Given the description of an element on the screen output the (x, y) to click on. 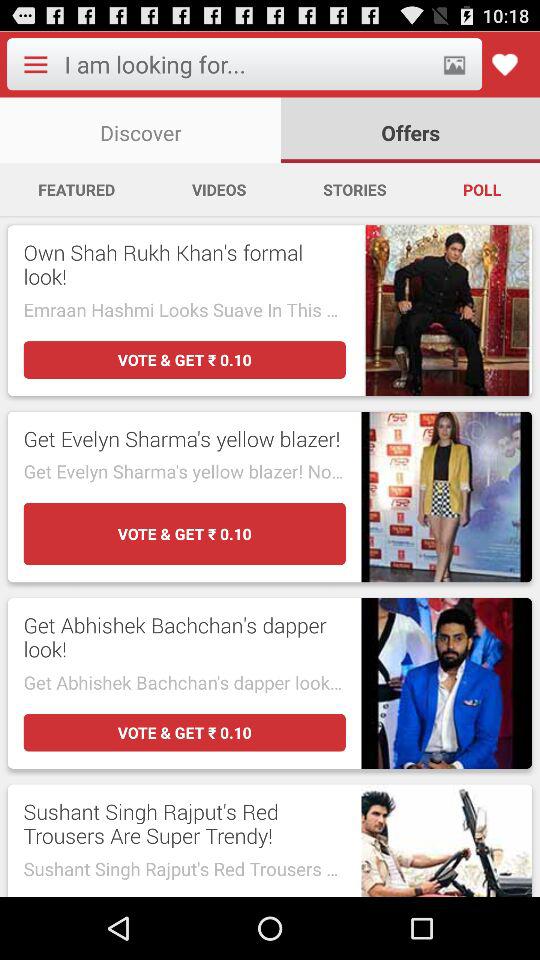
dropdown menu (35, 64)
